Given the description of an element on the screen output the (x, y) to click on. 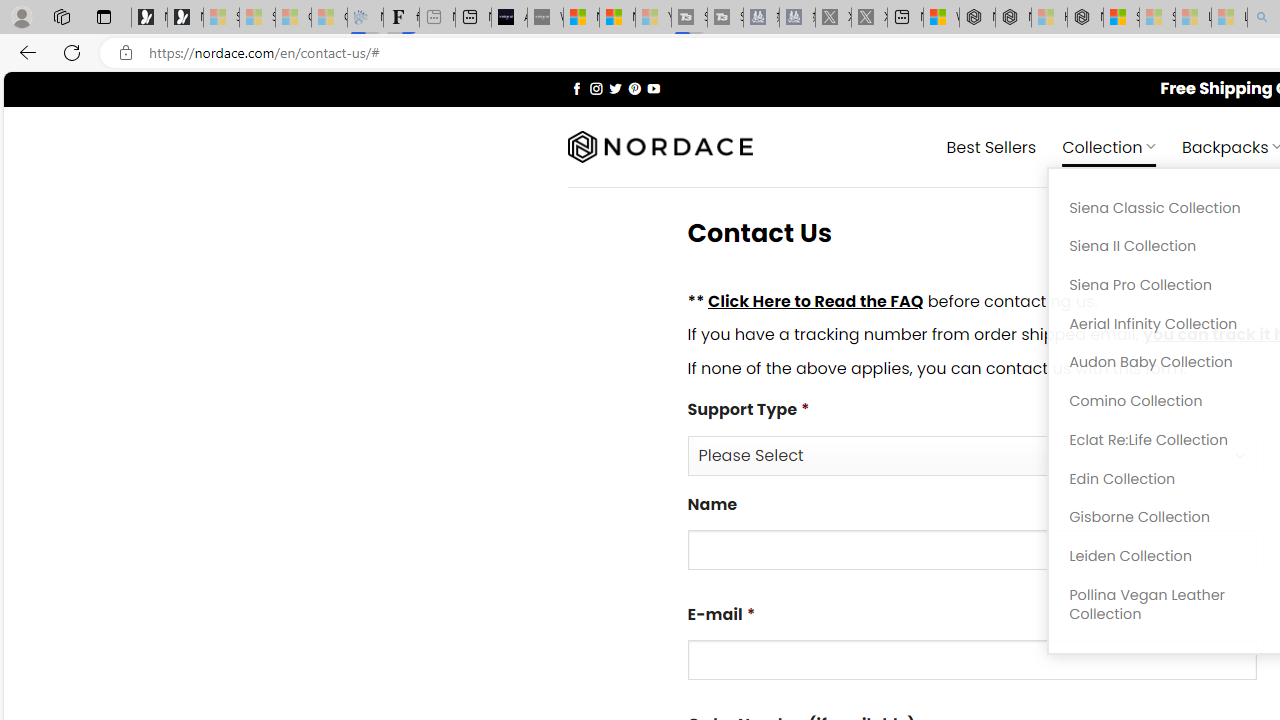
Newsletter Sign Up (185, 17)
Click Here to Read the FAQ (815, 300)
Streaming Coverage | T3 - Sleeping (689, 17)
Nordace - Nordace Siena Is Not An Ordinary Backpack (1085, 17)
What's the best AI voice generator? - voice.ai - Sleeping (545, 17)
Follow on Facebook (576, 88)
 Best Sellers (990, 146)
